Given the description of an element on the screen output the (x, y) to click on. 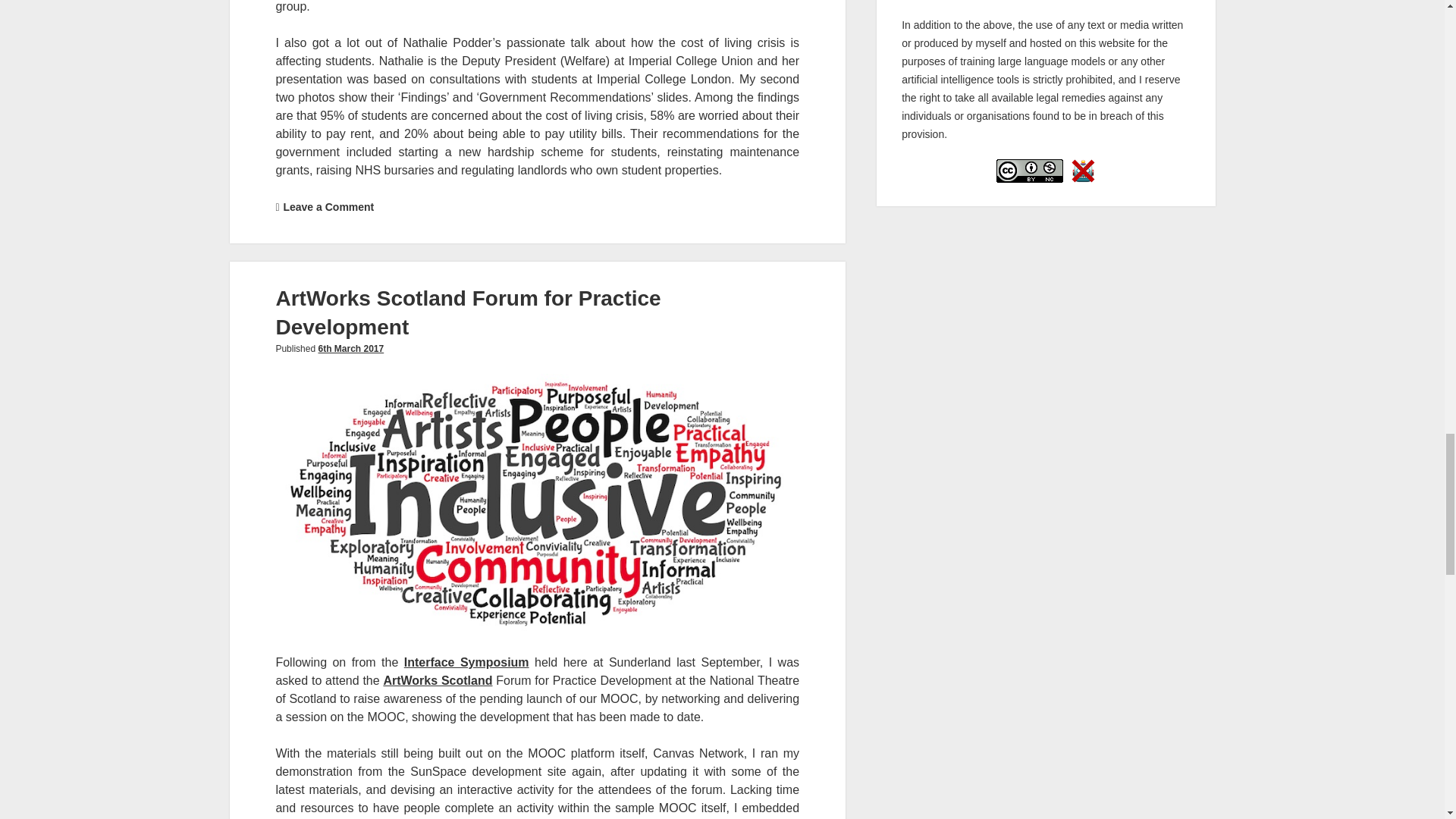
Leave a Comment (328, 206)
6th March 2017 (350, 348)
comment icon (277, 207)
Interface Symposium (466, 662)
ArtWorks Scotland Forum for Practice Development (468, 312)
ArtWorks Scotland (437, 680)
